Given the description of an element on the screen output the (x, y) to click on. 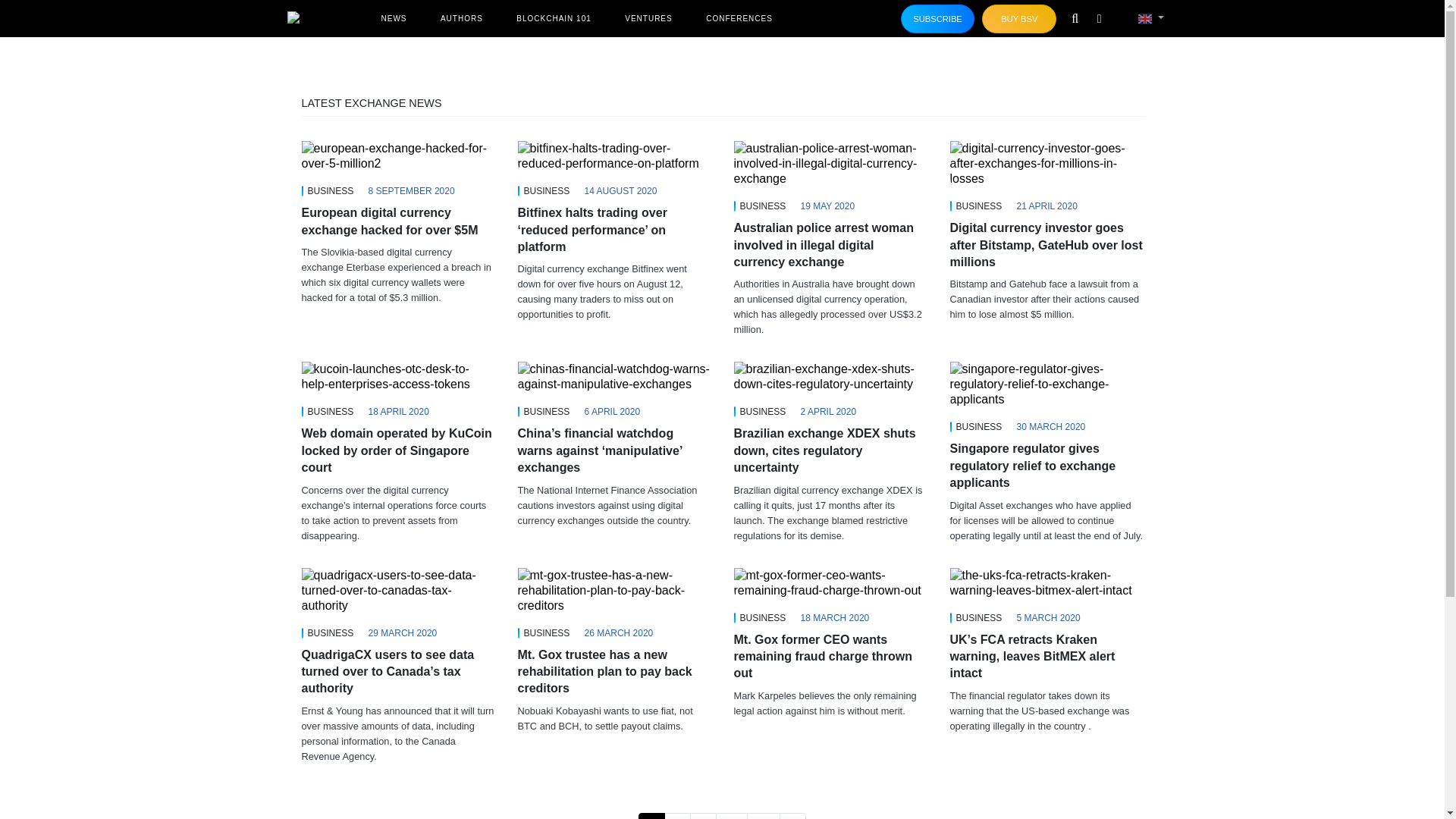
european-exchange-hacked-for-over-5-million2 (398, 155)
Never miss an update again! Subscribe to Newsletter! (938, 18)
CONFERENCES (739, 18)
NEWS (392, 18)
VENTURES (648, 18)
